Given the description of an element on the screen output the (x, y) to click on. 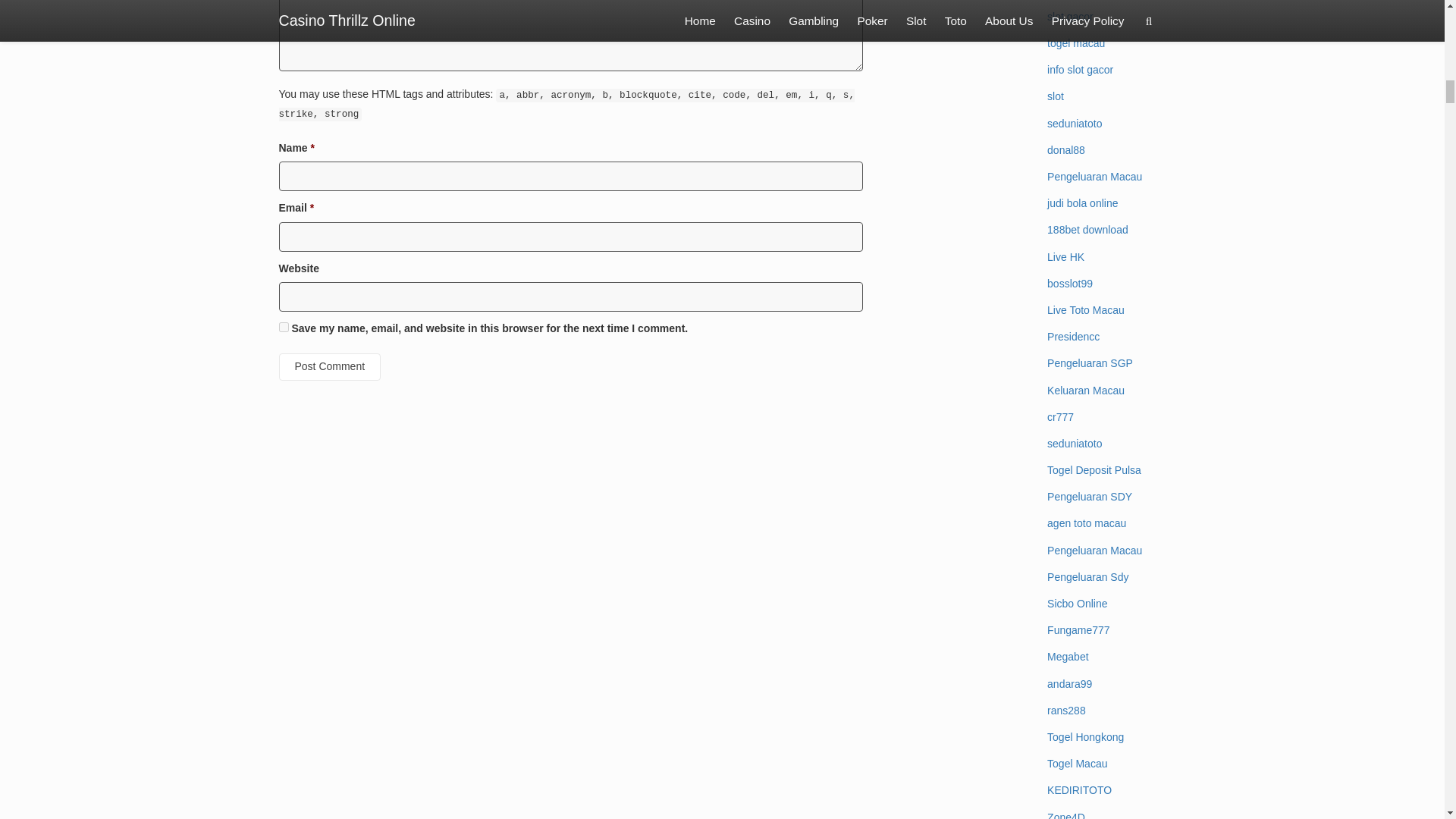
Post Comment (330, 366)
Post Comment (330, 366)
yes (283, 327)
